Given the description of an element on the screen output the (x, y) to click on. 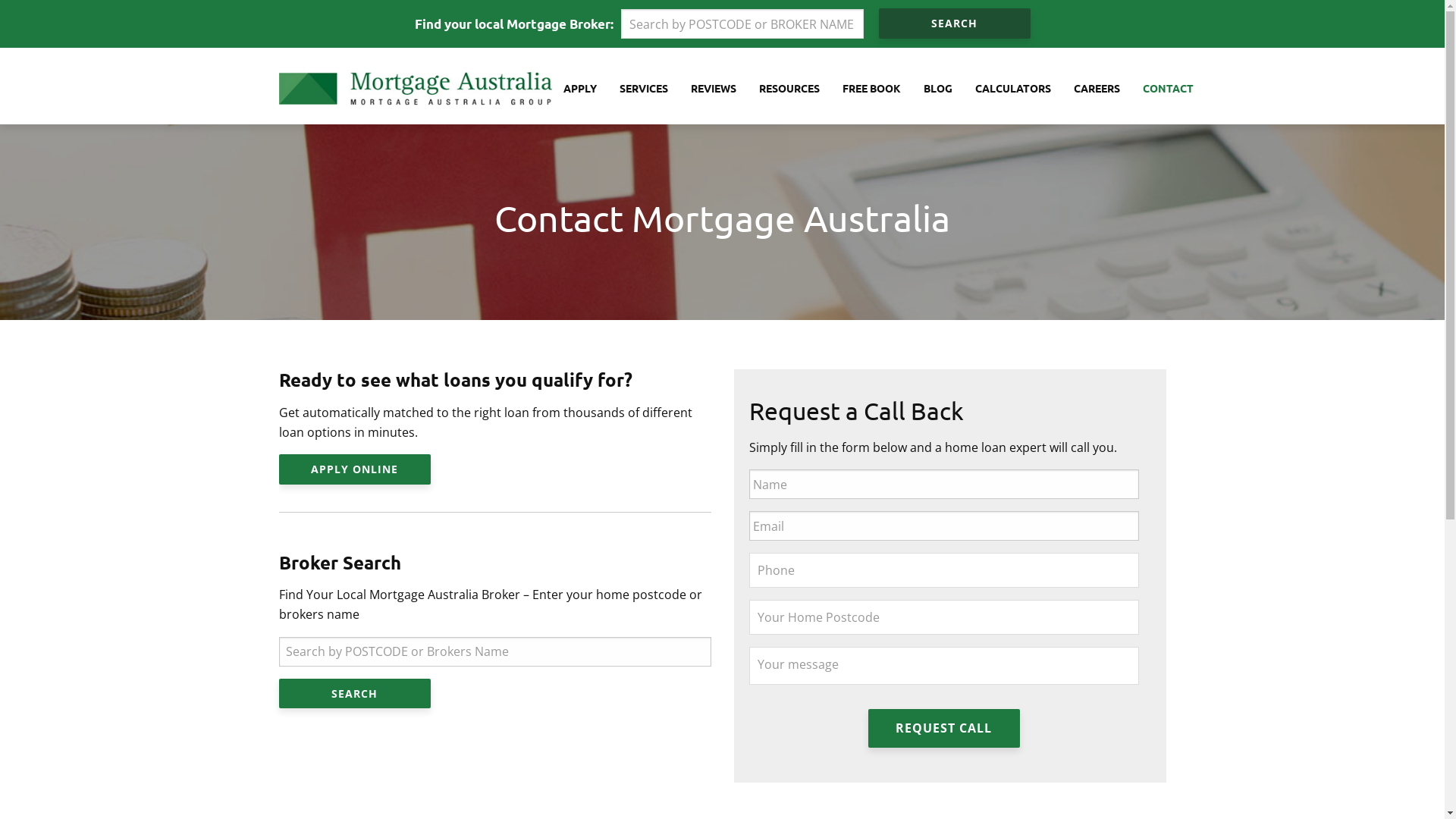
APPLY ONLINE Element type: text (354, 468)
Request Call Element type: text (943, 728)
FREE BOOK Element type: text (871, 88)
RESOURCES Element type: text (789, 88)
SERVICES Element type: text (643, 88)
BLOG Element type: text (937, 88)
CALCULATORS Element type: text (1012, 88)
APPLY Element type: text (580, 88)
SEARCH Element type: text (354, 693)
REVIEWS Element type: text (713, 88)
CAREERS Element type: text (1095, 88)
CONTACT Element type: text (1162, 88)
SEARCH Element type: text (953, 22)
